Given the description of an element on the screen output the (x, y) to click on. 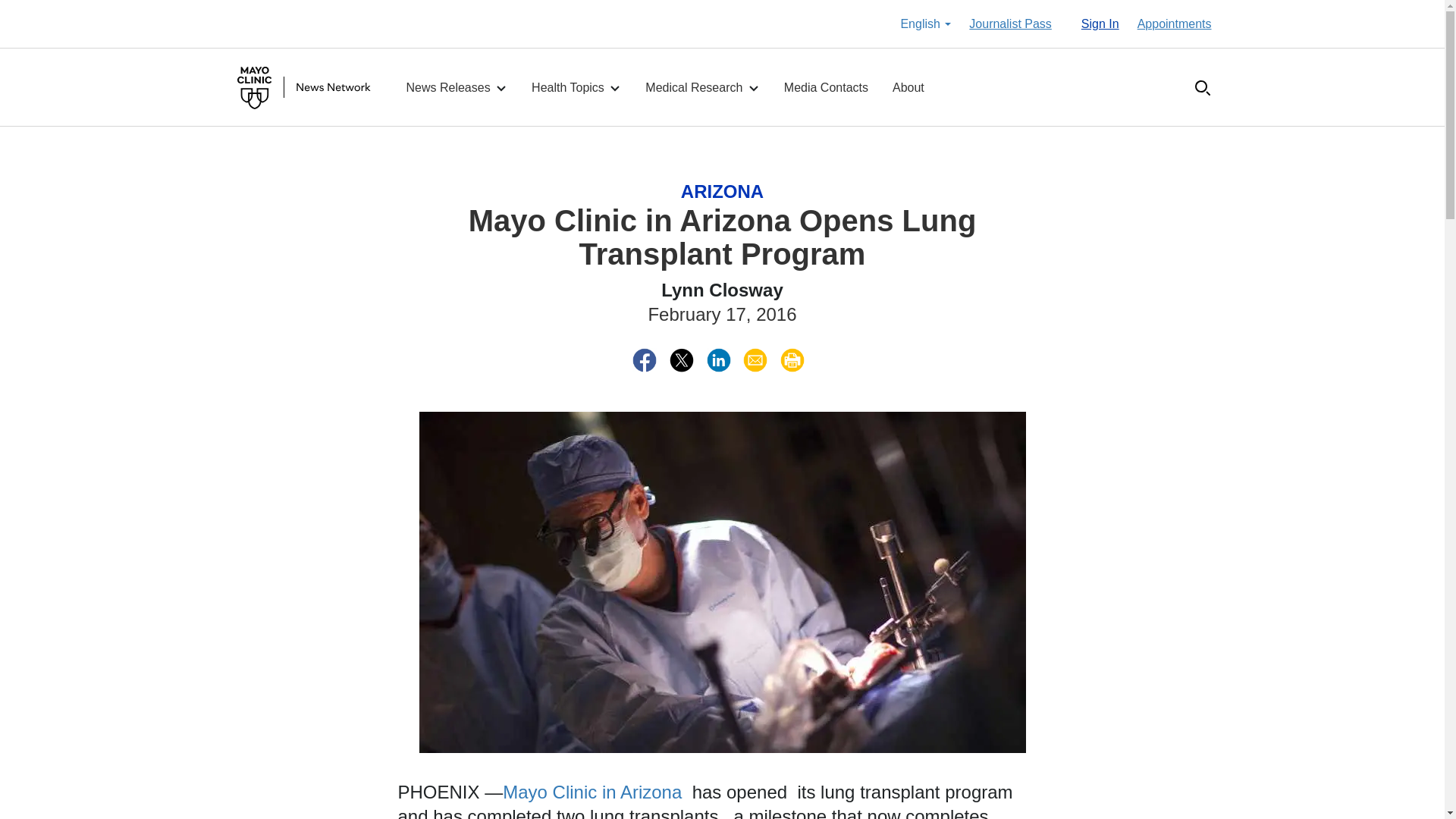
Appointments (1174, 24)
News Releases (457, 87)
Health Topics (576, 87)
English (924, 23)
Sign In (1100, 23)
Health Topics (576, 87)
English (924, 23)
Journalist Pass (1010, 23)
Journalist Pass (1010, 23)
Medical Research (702, 87)
News Releases (457, 87)
